Given the description of an element on the screen output the (x, y) to click on. 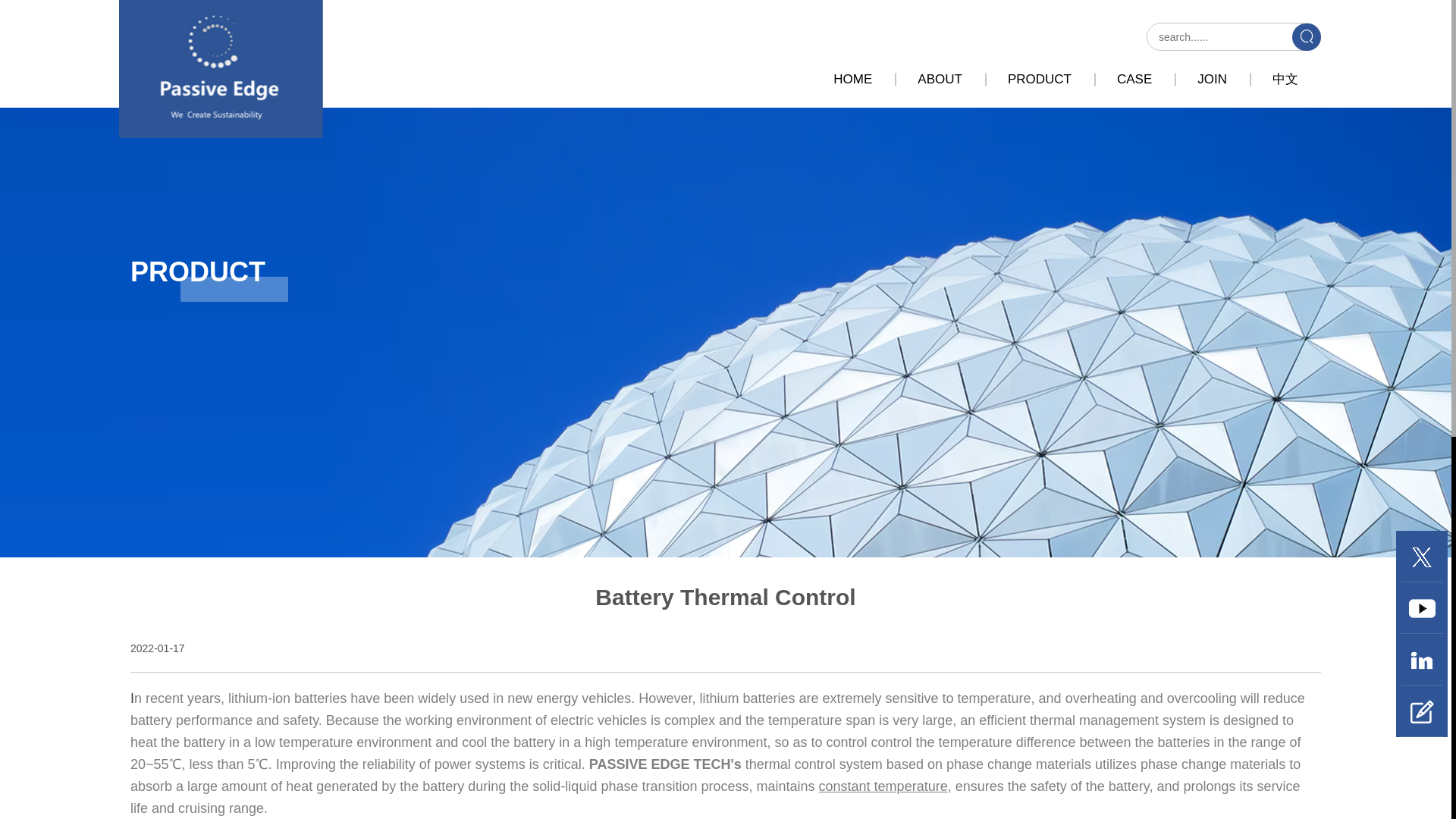
CASE (1133, 79)
PRODUCT (1039, 79)
JOIN (1211, 79)
constant temperature (882, 785)
ABOUT (939, 79)
HOME (852, 79)
